Given the description of an element on the screen output the (x, y) to click on. 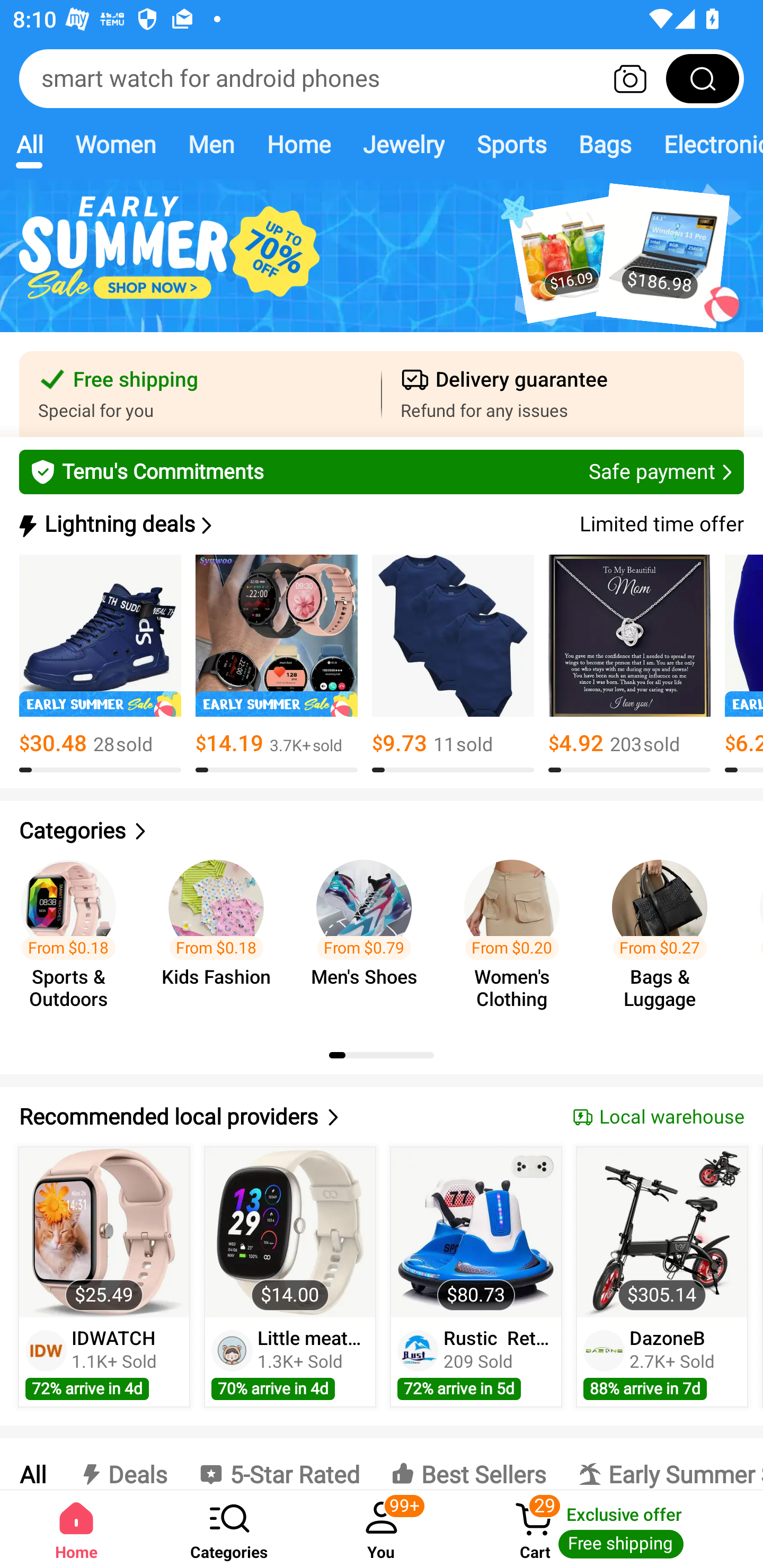
smart watch for android phones (381, 78)
All (29, 144)
Women (115, 144)
Men (211, 144)
Home (298, 144)
Jewelry (403, 144)
Sports (511, 144)
Bags (605, 144)
Electronics (705, 144)
$16.09 $186.98 (381, 265)
Free shipping Special for you (200, 394)
Delivery guarantee Refund for any issues (562, 394)
Temu's Commitments (381, 471)
Lightning deals Lightning deals Limited time offer (379, 524)
$30.48 28￼sold 8.0 (100, 664)
$14.19 3.7K+￼sold 8.0 (276, 664)
$9.73 11￼sold 8.0 (453, 664)
$4.92 203￼sold 8.0 (629, 664)
Categories (381, 830)
From $0.18 Sports & Outdoors (74, 936)
From $0.18 Kids Fashion (222, 936)
From $0.79 Men's Shoes (369, 936)
From $0.20 Women's Clothing (517, 936)
From $0.27 Bags & Luggage (665, 936)
$25.49 IDWATCH 1.1K+ Sold 72% arrive in 4d (103, 1276)
$80.73 Rustic Retreat 209 Sold 72% arrive in 5d (475, 1276)
$305.14 DazoneB 2.7K+ Sold 88% arrive in 7d (661, 1276)
$25.49 (104, 1232)
$14.00 (290, 1232)
$80.73 (475, 1232)
$305.14 (661, 1232)
All (32, 1463)
Deals Deals Deals (122, 1463)
5-Star Rated 5-Star Rated 5-Star Rated (279, 1463)
Best Sellers Best Sellers Best Sellers (468, 1463)
Home (76, 1528)
Categories (228, 1528)
You ‎99+‎ You (381, 1528)
Cart 29 Cart Exclusive offer (610, 1528)
